Given the description of an element on the screen output the (x, y) to click on. 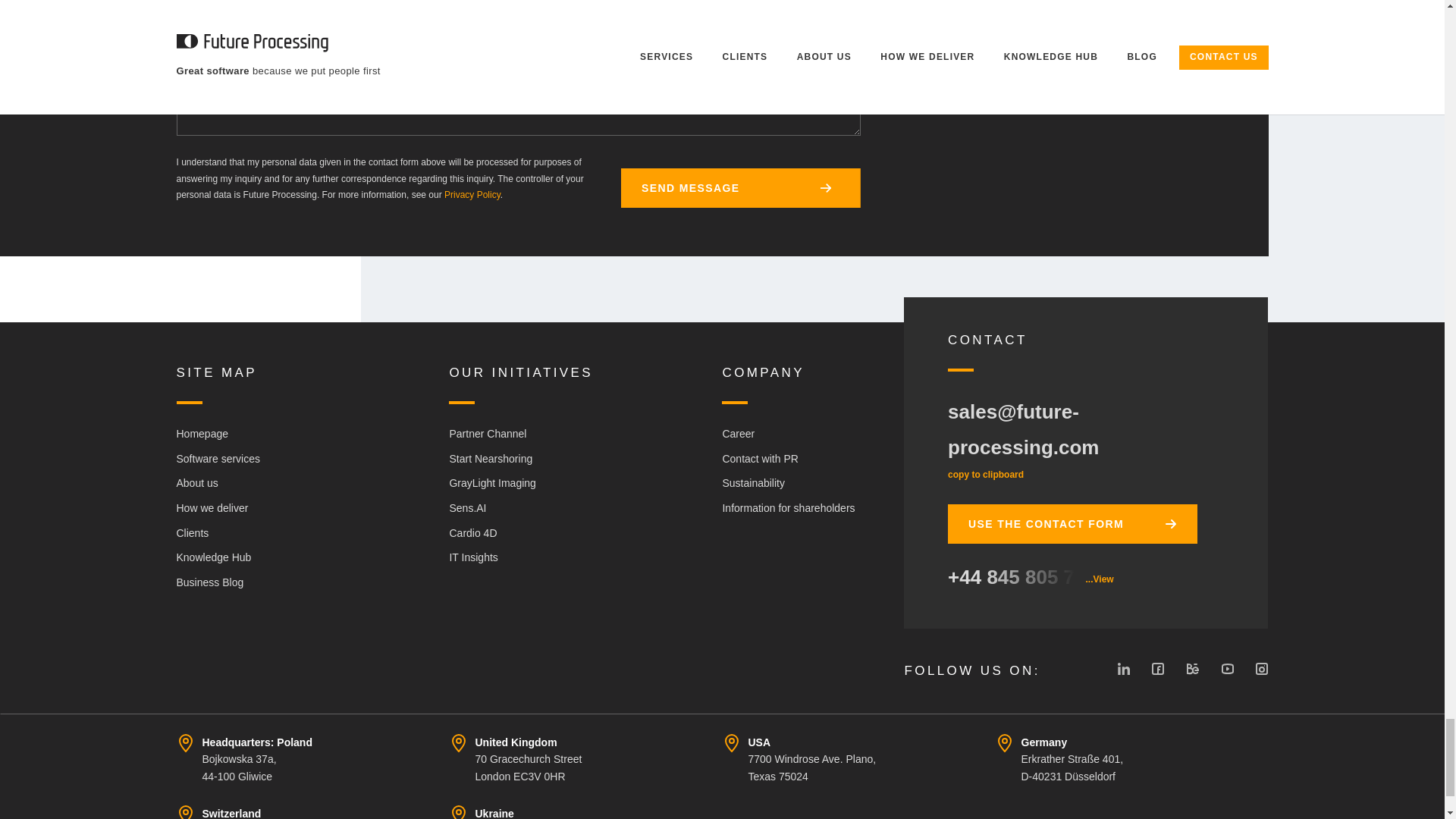
SEND MESSAGE (740, 188)
